Given the description of an element on the screen output the (x, y) to click on. 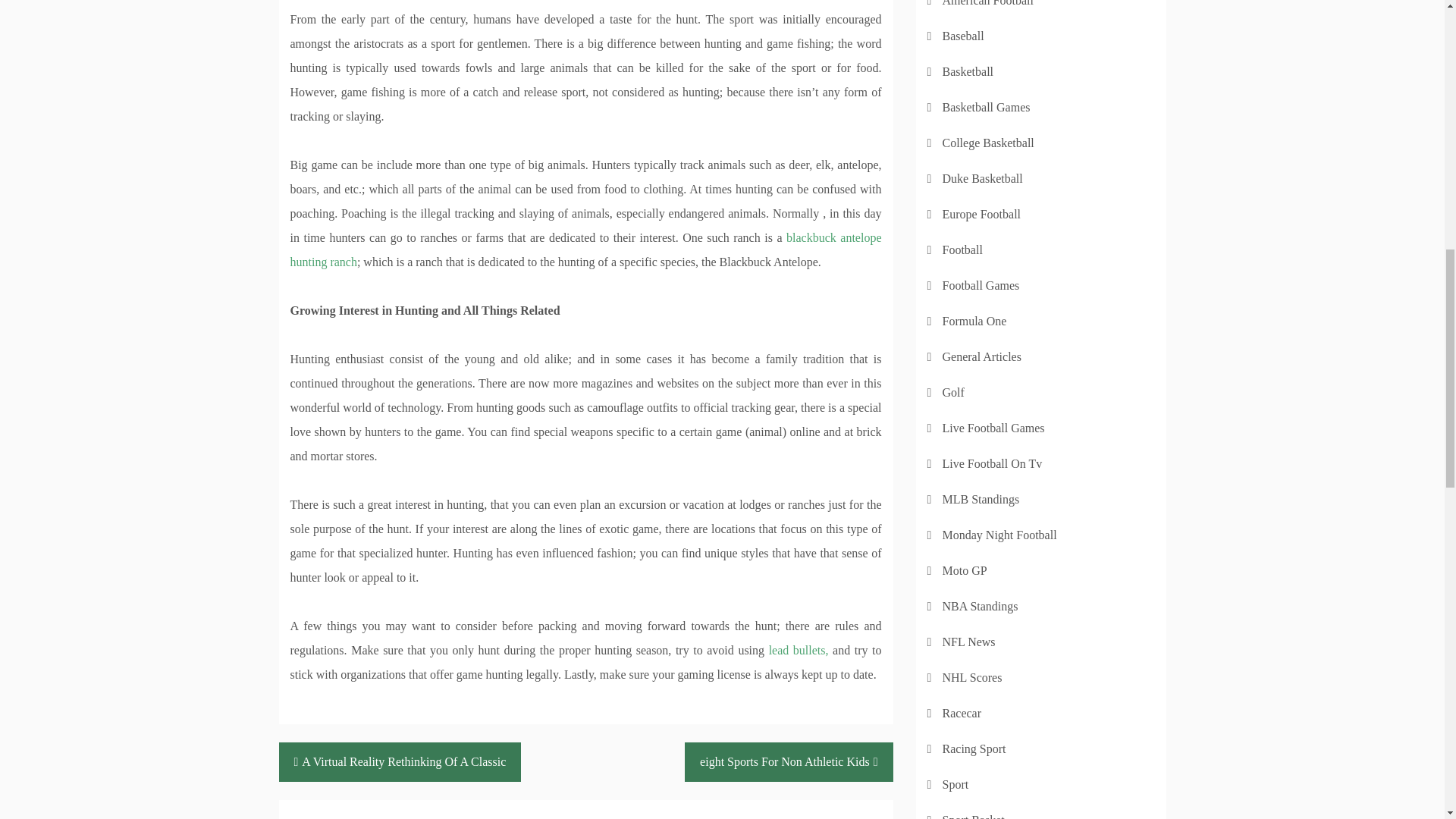
blackbuck antelope hunting ranch (584, 249)
American Football (987, 3)
Baseball (963, 35)
Basketball (967, 71)
A Virtual Reality Rethinking Of A Classic (400, 762)
eight Sports For Non Athletic Kids (788, 762)
lead bullets, (798, 649)
Basketball Games (985, 106)
